Given the description of an element on the screen output the (x, y) to click on. 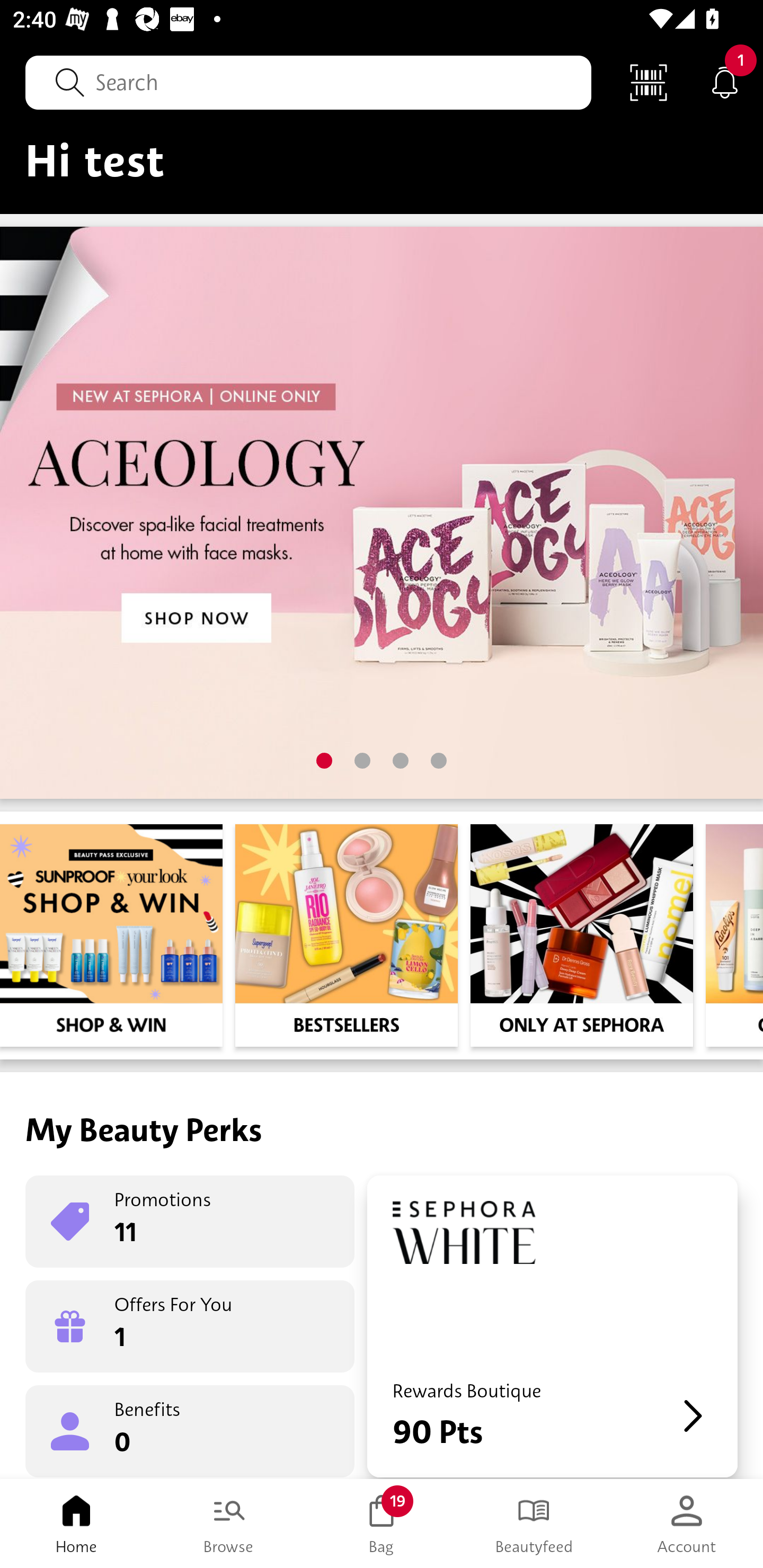
Scan Code (648, 81)
Notifications (724, 81)
Search (308, 81)
Promotions 11 (189, 1221)
Rewards Boutique 90 Pts (552, 1326)
Offers For You 1 (189, 1326)
Benefits 0 (189, 1430)
Browse (228, 1523)
Bag 19 Bag (381, 1523)
Beautyfeed (533, 1523)
Account (686, 1523)
